Given the description of an element on the screen output the (x, y) to click on. 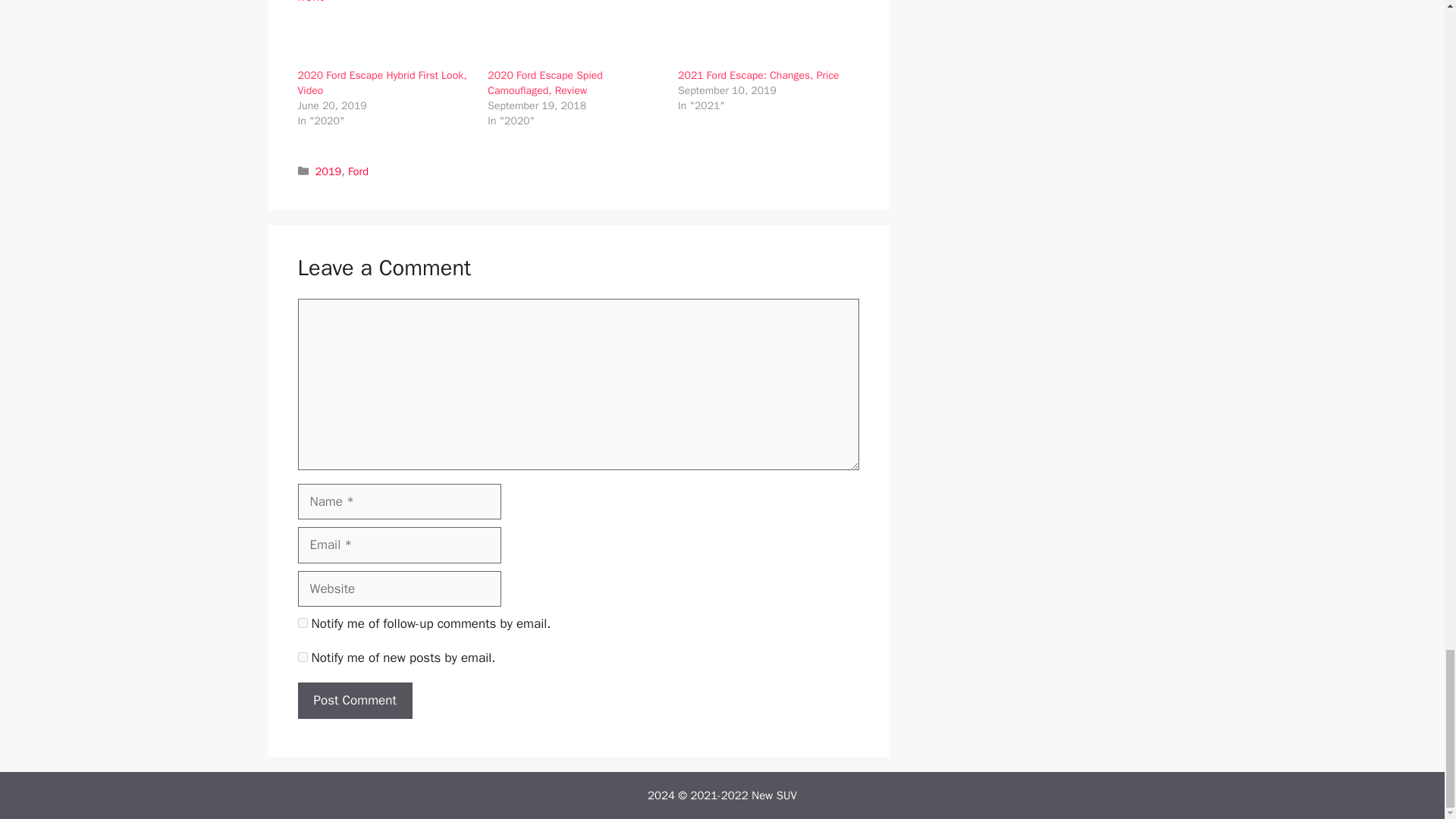
2020 Ford Escape Spied Camouflaged, Review (544, 82)
2020 Ford Escape Spied Camouflaged, Review (574, 33)
2020 Ford Escape Spied Camouflaged, Review (544, 82)
2020 Ford Escape Hybrid First Look, Video (384, 33)
2020 Ford Escape Hybrid First Look, Video (381, 82)
subscribe (302, 656)
subscribe (302, 623)
2020 Ford Escape Hybrid First Look, Video (381, 82)
Post Comment (354, 700)
